Given the description of an element on the screen output the (x, y) to click on. 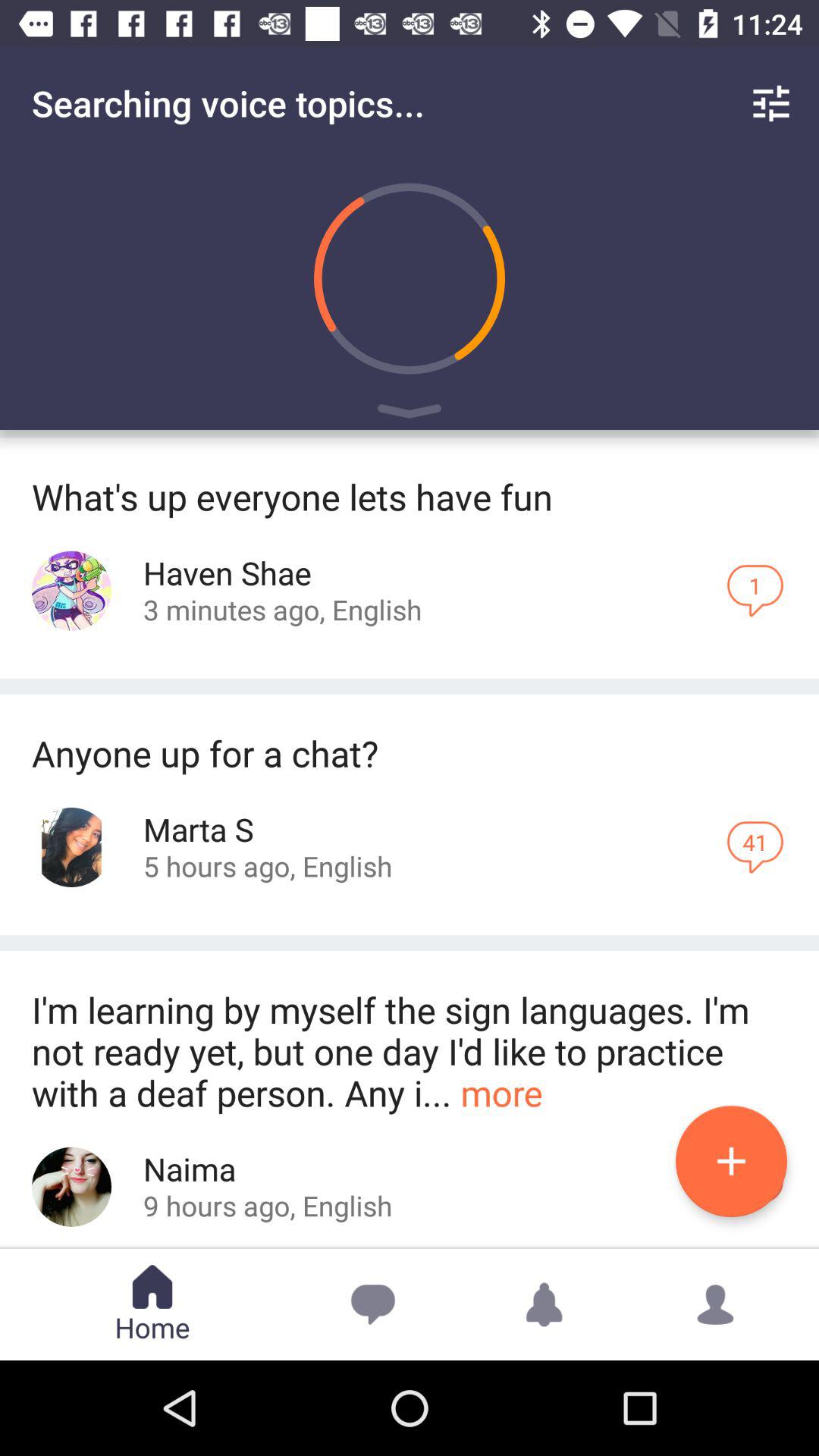
open profile page (71, 1186)
